Given the description of an element on the screen output the (x, y) to click on. 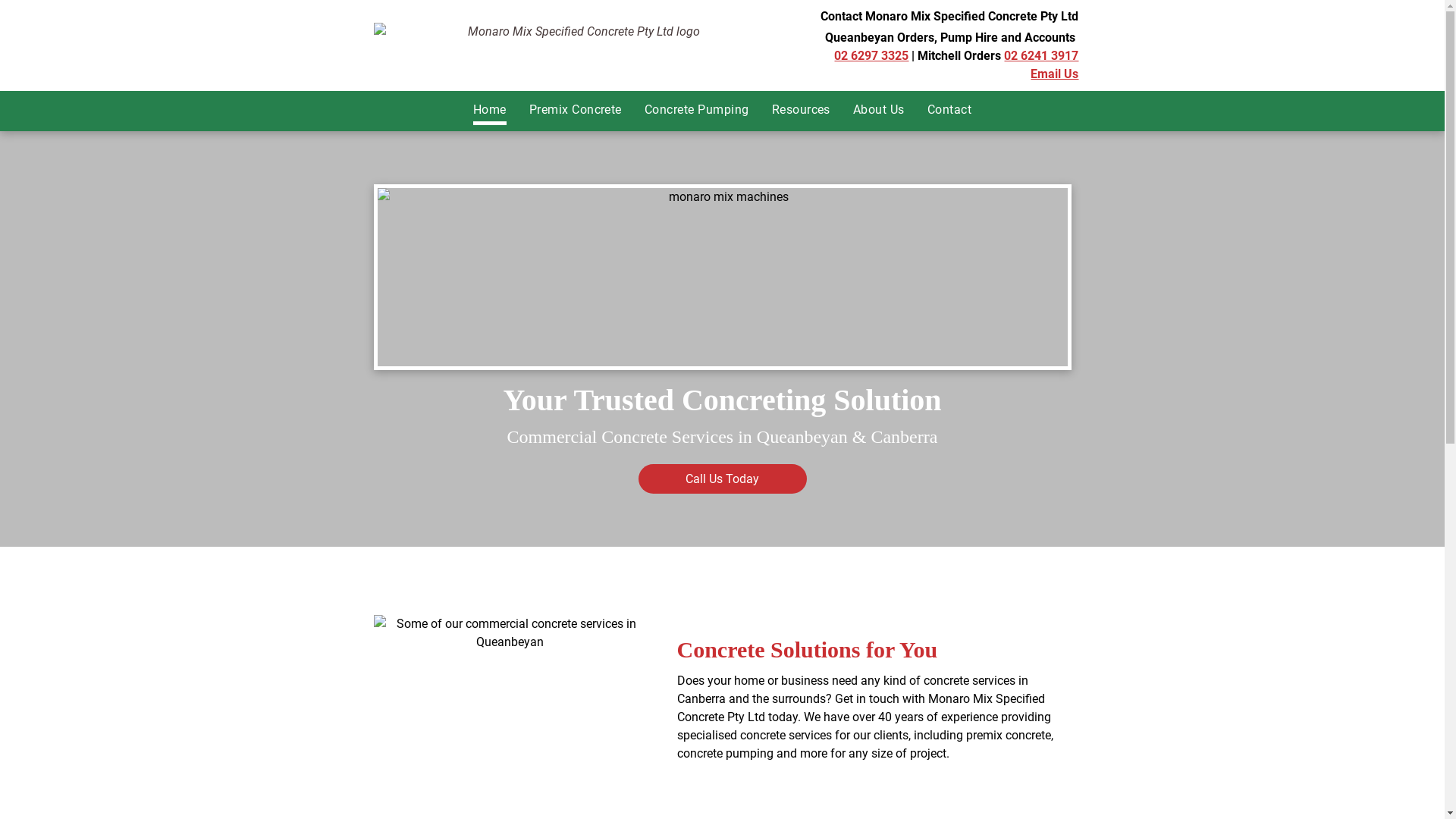
Home Element type: text (489, 111)
Call Us Today Element type: text (722, 478)
02 6297 3325 Element type: text (871, 55)
Resources Element type: text (800, 111)
Concrete Pumping Element type: text (696, 111)
Contact Element type: text (949, 111)
About Us Element type: text (878, 111)
Email Us Element type: text (1054, 73)
Premix Concrete Element type: text (575, 111)
02 6241 3917 Element type: text (1041, 55)
